Given the description of an element on the screen output the (x, y) to click on. 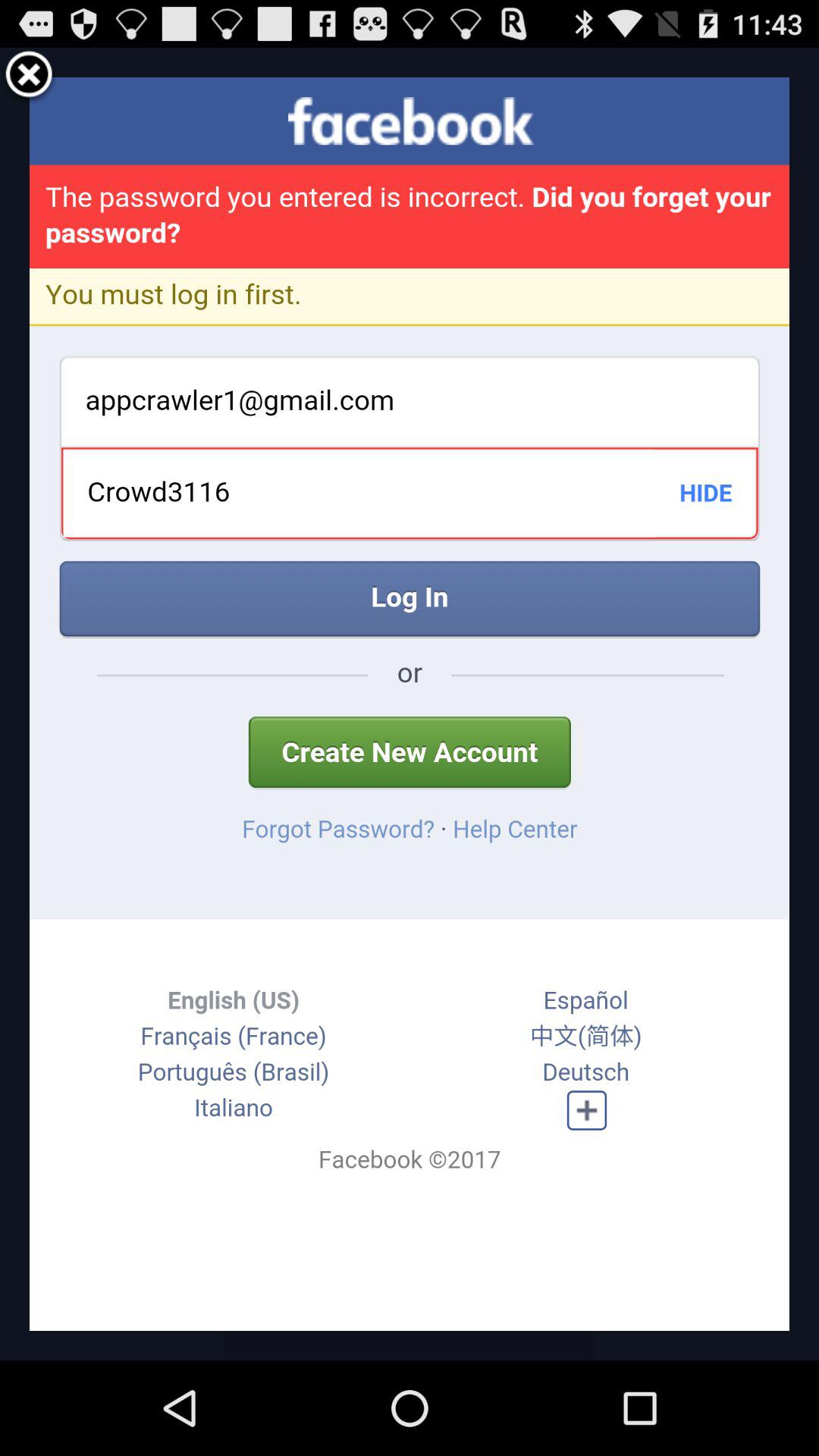
turn on icon at the center (409, 703)
